Given the description of an element on the screen output the (x, y) to click on. 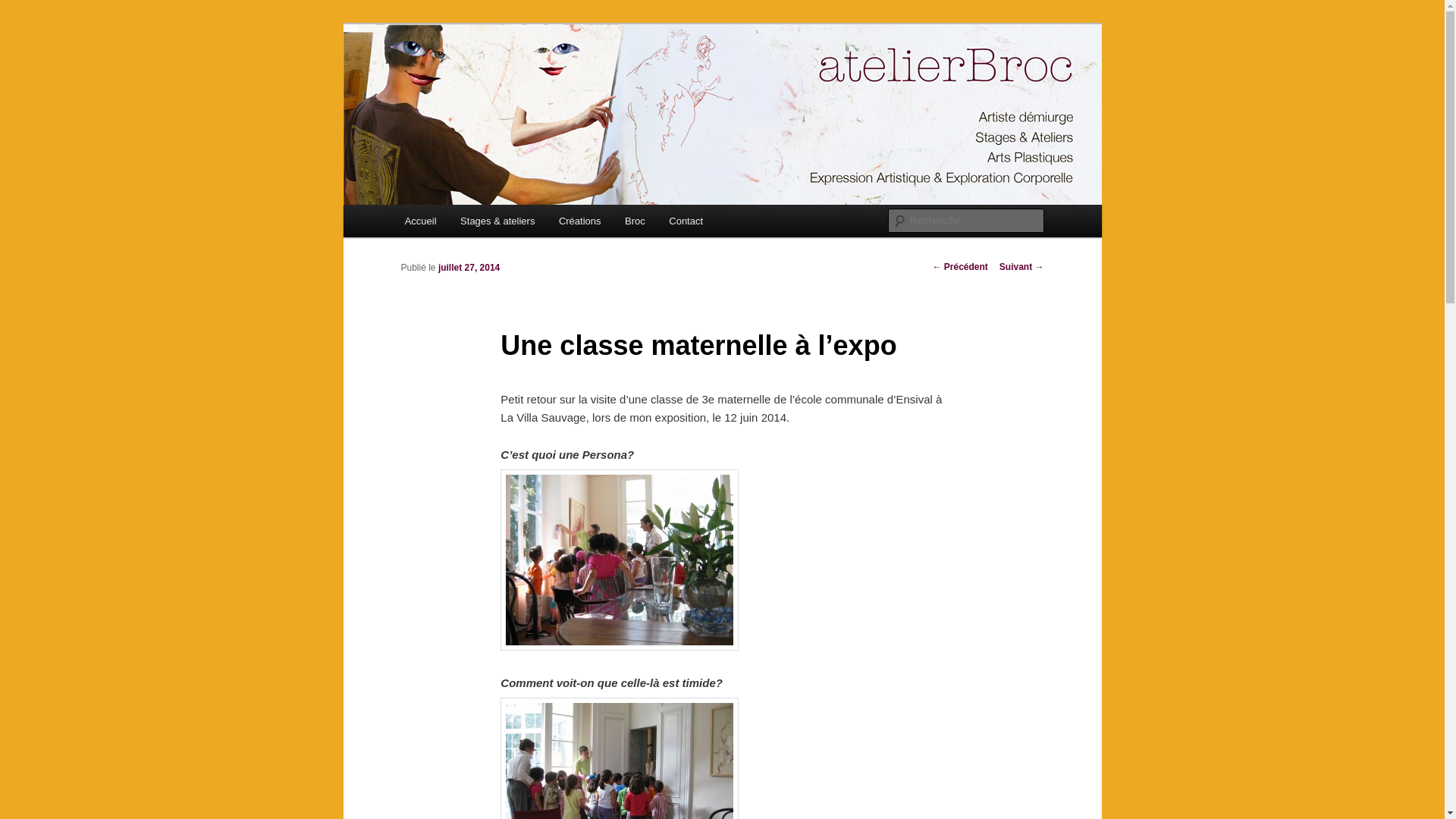
Accueil Element type: text (420, 220)
Recherche Element type: text (33, 8)
juillet 27, 2014 Element type: text (468, 267)
Broc Element type: text (634, 220)
Contact Element type: text (686, 220)
atelierBroc Element type: text (459, 78)
Aller au contenu principal Element type: text (477, 223)
Stages & ateliers Element type: text (497, 220)
